Given the description of an element on the screen output the (x, y) to click on. 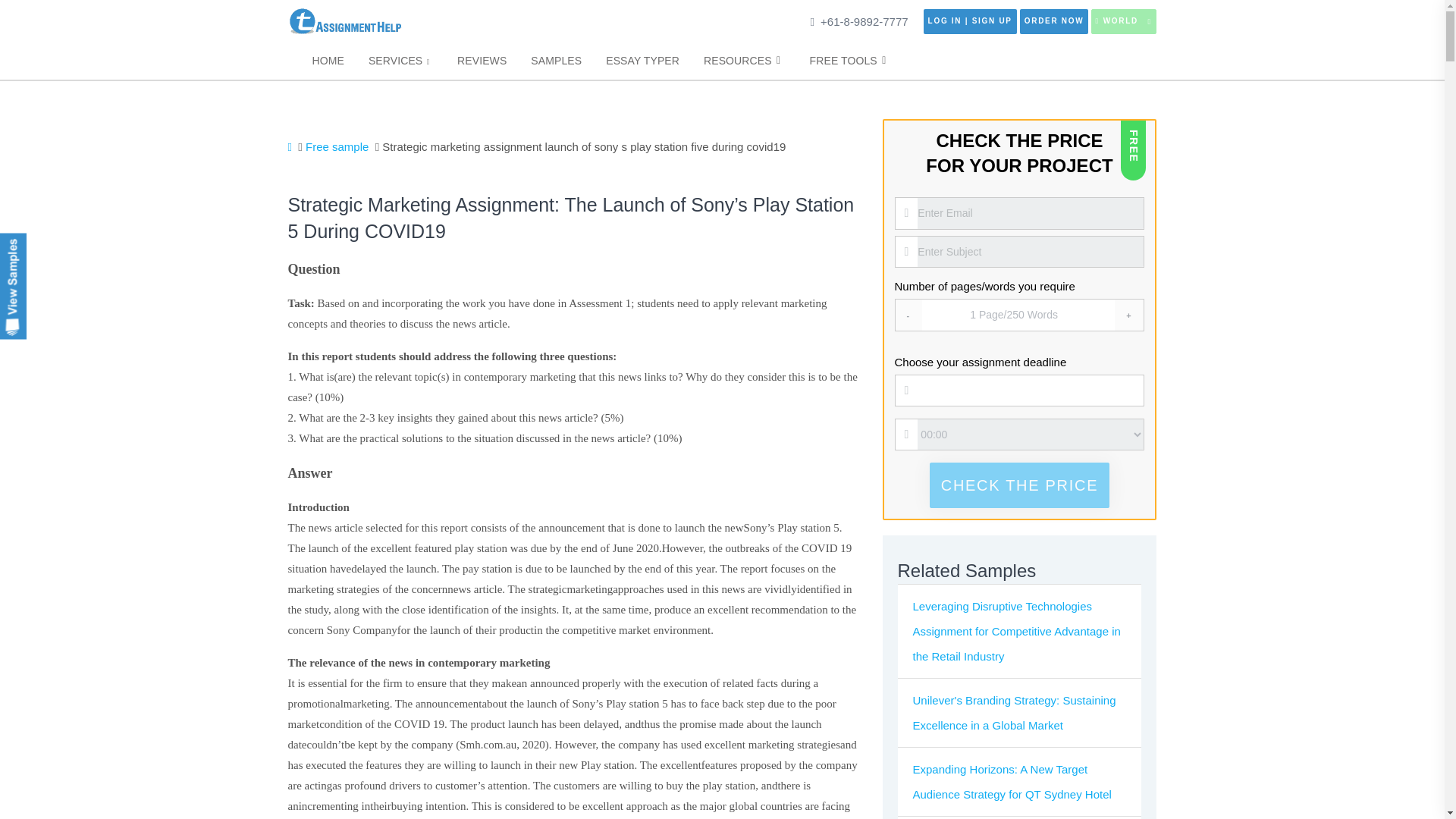
WORLD (1123, 21)
SERVICES (400, 60)
HOME (328, 60)
ORDER NOW (1054, 21)
